Given the description of an element on the screen output the (x, y) to click on. 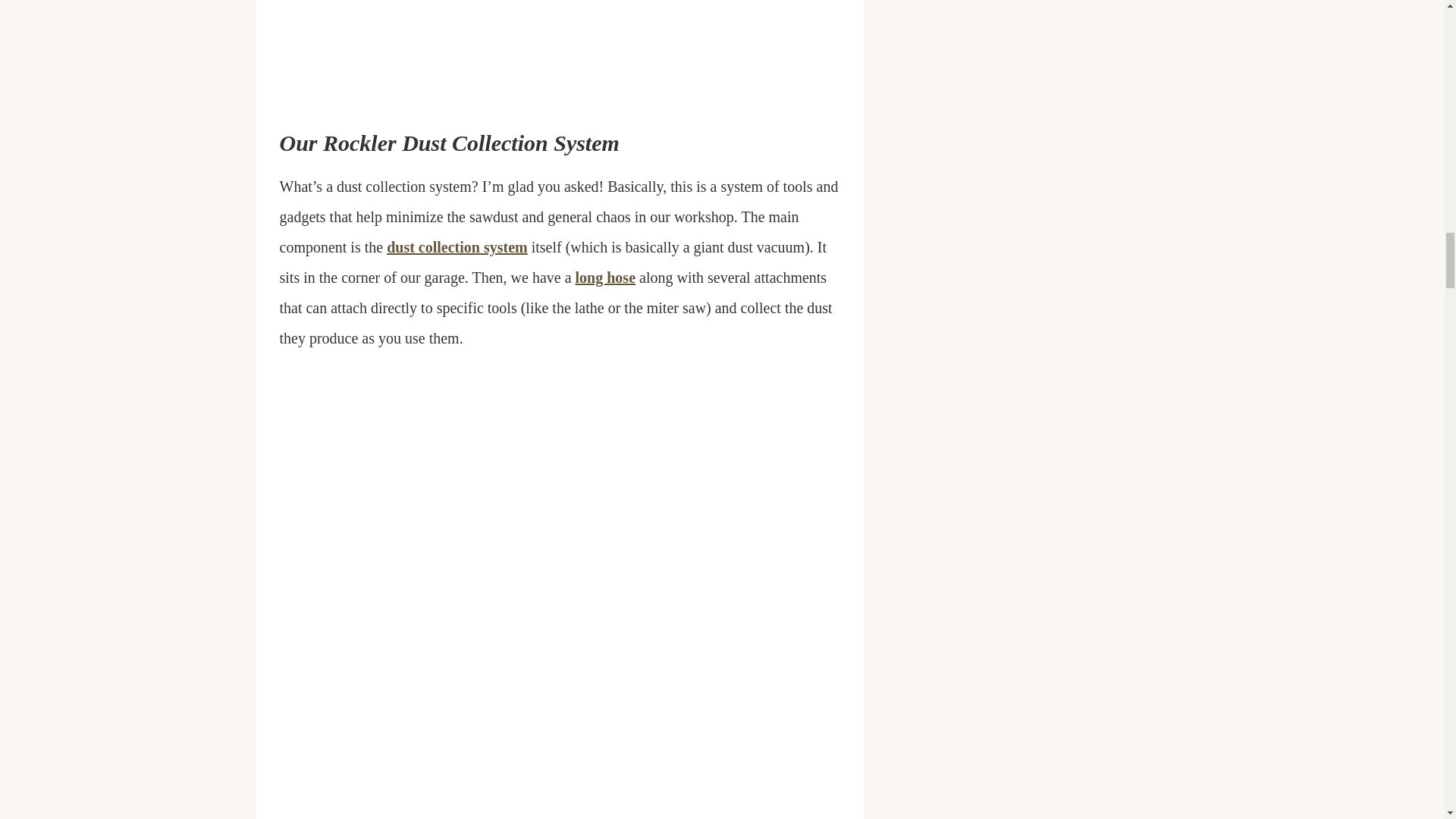
long hose (604, 277)
dust collection system (457, 247)
